Given the description of an element on the screen output the (x, y) to click on. 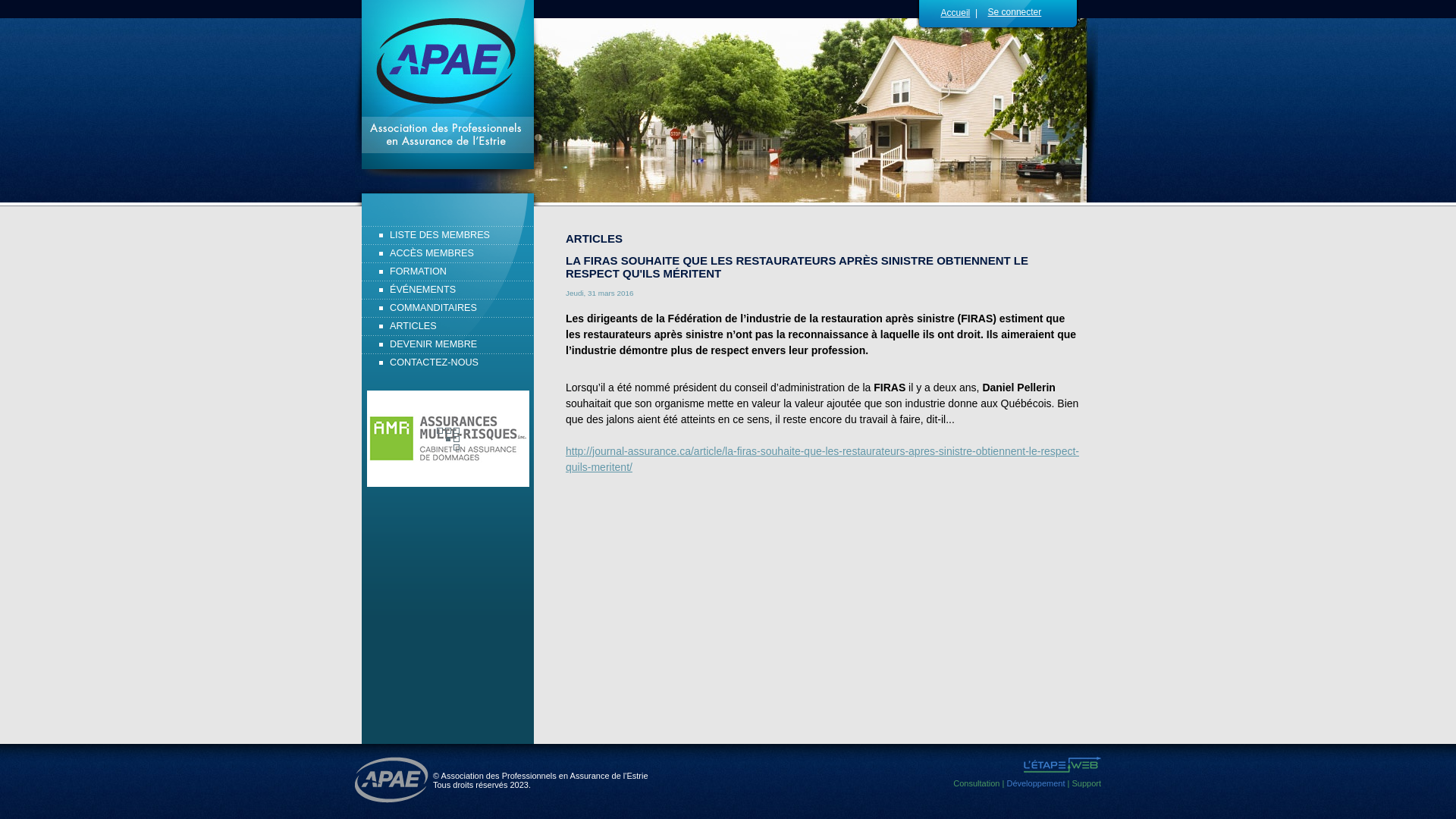
COMMANDITAIRES Element type: text (447, 307)
CONTACTEZ-NOUS Element type: text (447, 362)
LISTE DES MEMBRES Element type: text (447, 234)
FORMATION Element type: text (447, 271)
ARTICLES Element type: text (447, 325)
DEVENIR MEMBRE Element type: text (447, 344)
Association des Professionnels en Assurance de l'Estrie Element type: hover (391, 779)
Se connecter Element type: text (1025, 11)
Indemipro Element type: hover (448, 438)
Accueil Element type: text (955, 12)
